Given the description of an element on the screen output the (x, y) to click on. 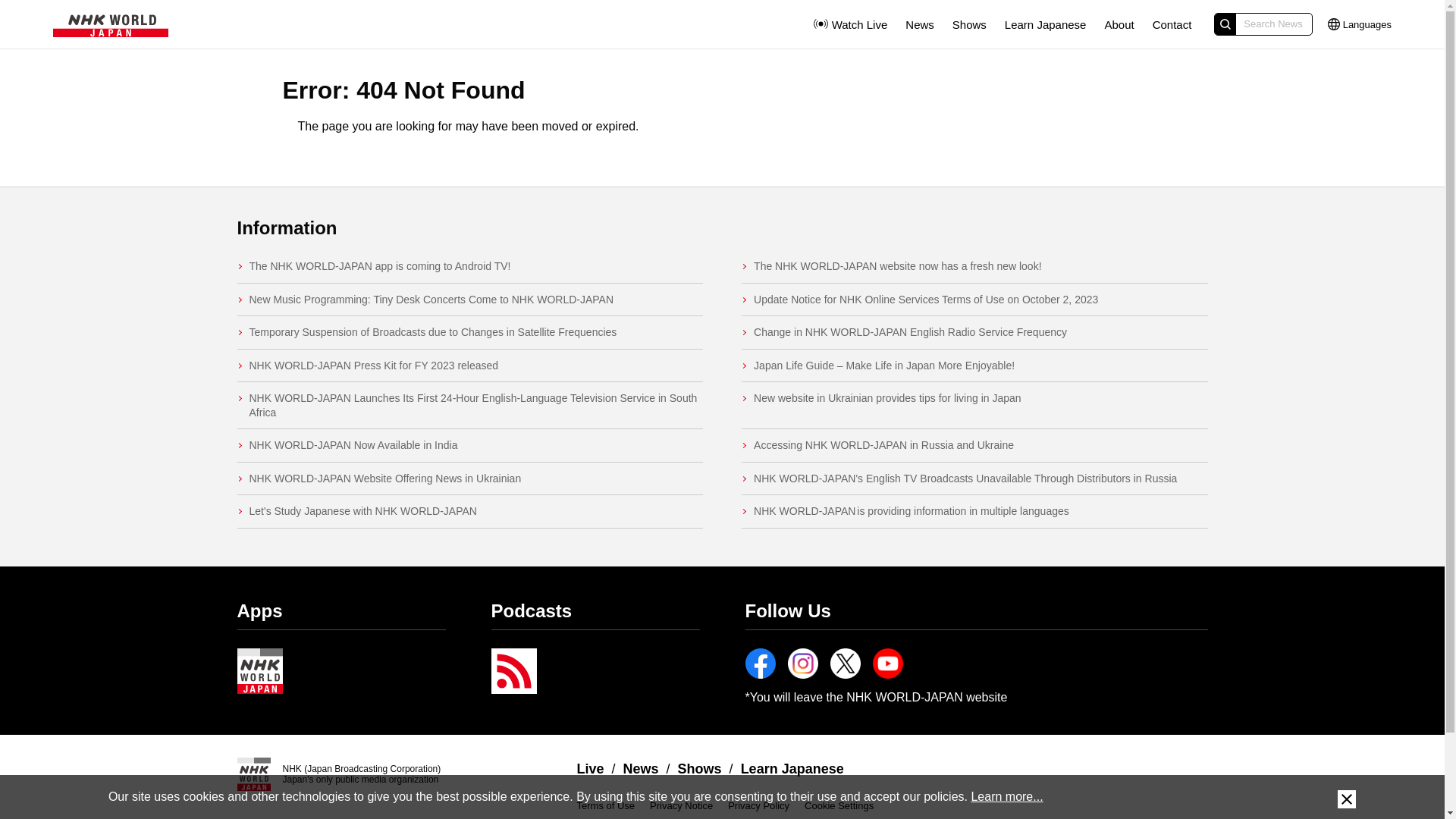
Contact (1172, 24)
News (919, 24)
Languages (1359, 24)
Shows (969, 24)
Search News (1262, 24)
About (1118, 24)
Watch Live (848, 24)
Learn Japanese (1045, 24)
